Given the description of an element on the screen output the (x, y) to click on. 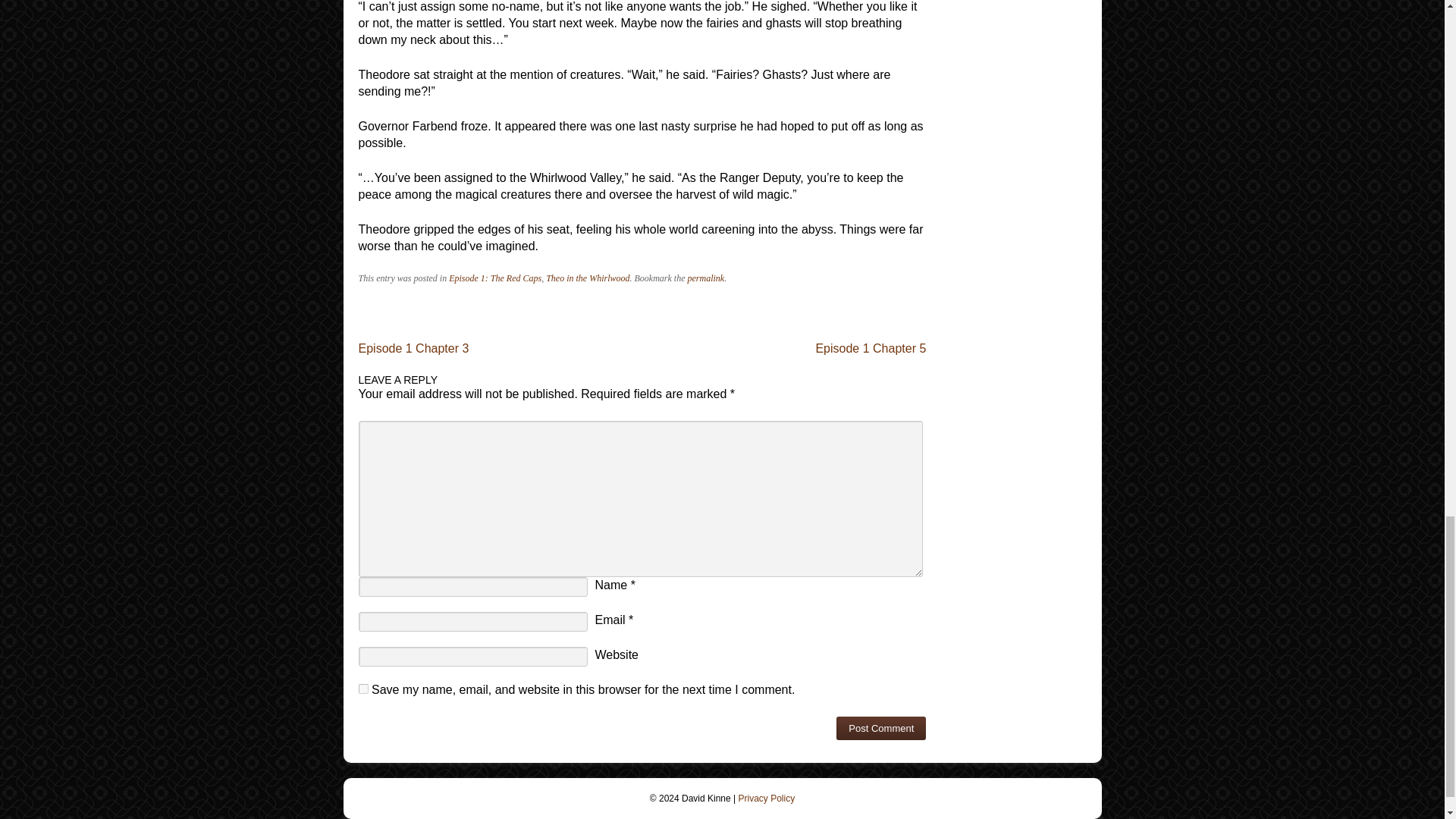
Episode 1: The Red Caps (494, 277)
Permalink to Episode 1 Chapter 4 (705, 277)
permalink (705, 277)
Post Comment (880, 728)
Theo in the Whirlwood (587, 277)
Episode 1 Chapter 3 (413, 348)
yes (363, 688)
Episode 1 Chapter 5 (870, 348)
Post Comment (880, 728)
